Given the description of an element on the screen output the (x, y) to click on. 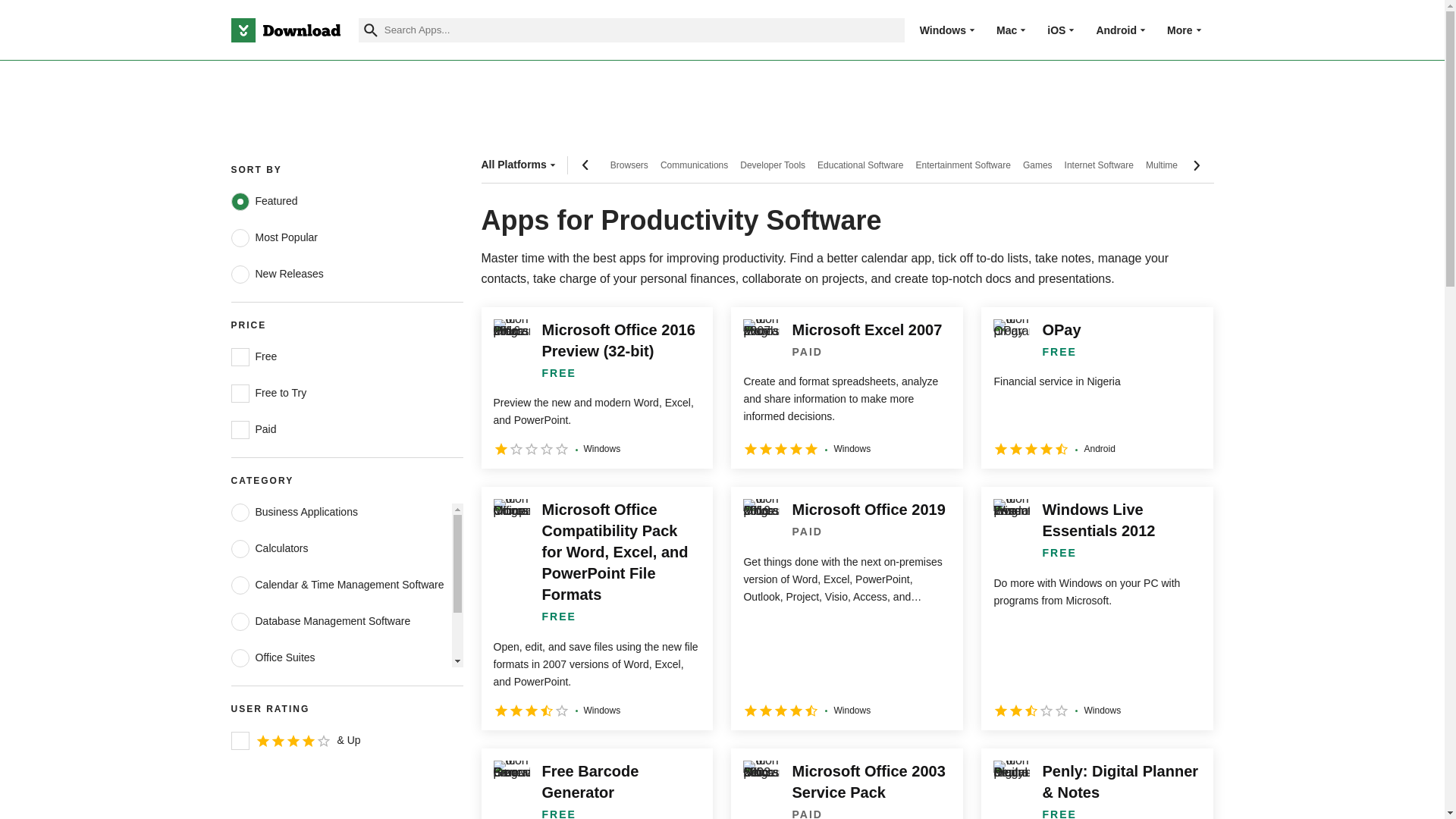
freeToTry (239, 393)
OPay (1096, 387)
productivity-calenders-planners (239, 585)
paid (239, 429)
Microsoft Excel 2007 (846, 387)
business-applications (239, 512)
Microsoft Office 2019 (846, 607)
featured (239, 201)
Free Barcode Generator (596, 783)
